Given the description of an element on the screen output the (x, y) to click on. 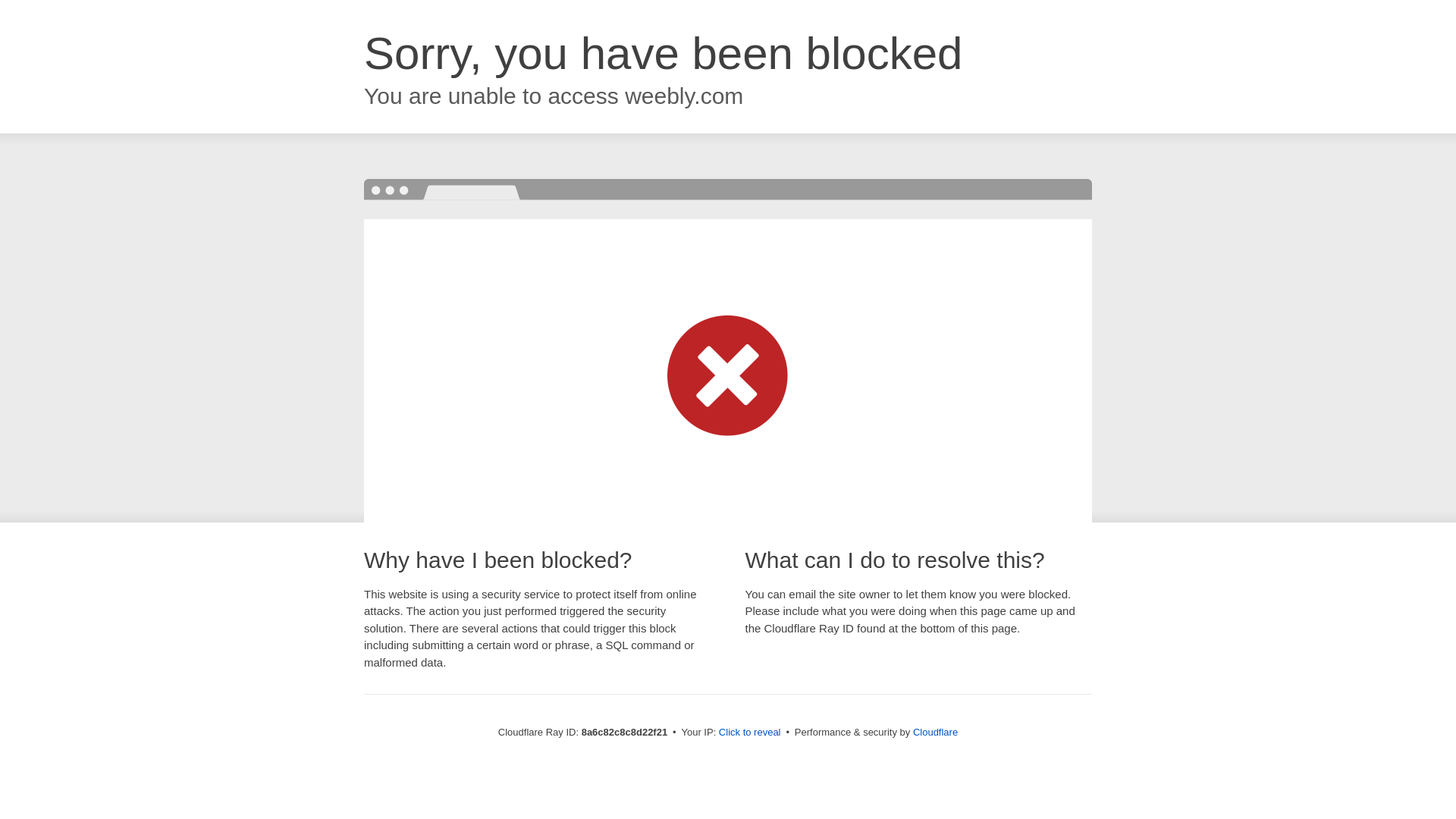
Cloudflare (935, 731)
Click to reveal (749, 732)
